Given the description of an element on the screen output the (x, y) to click on. 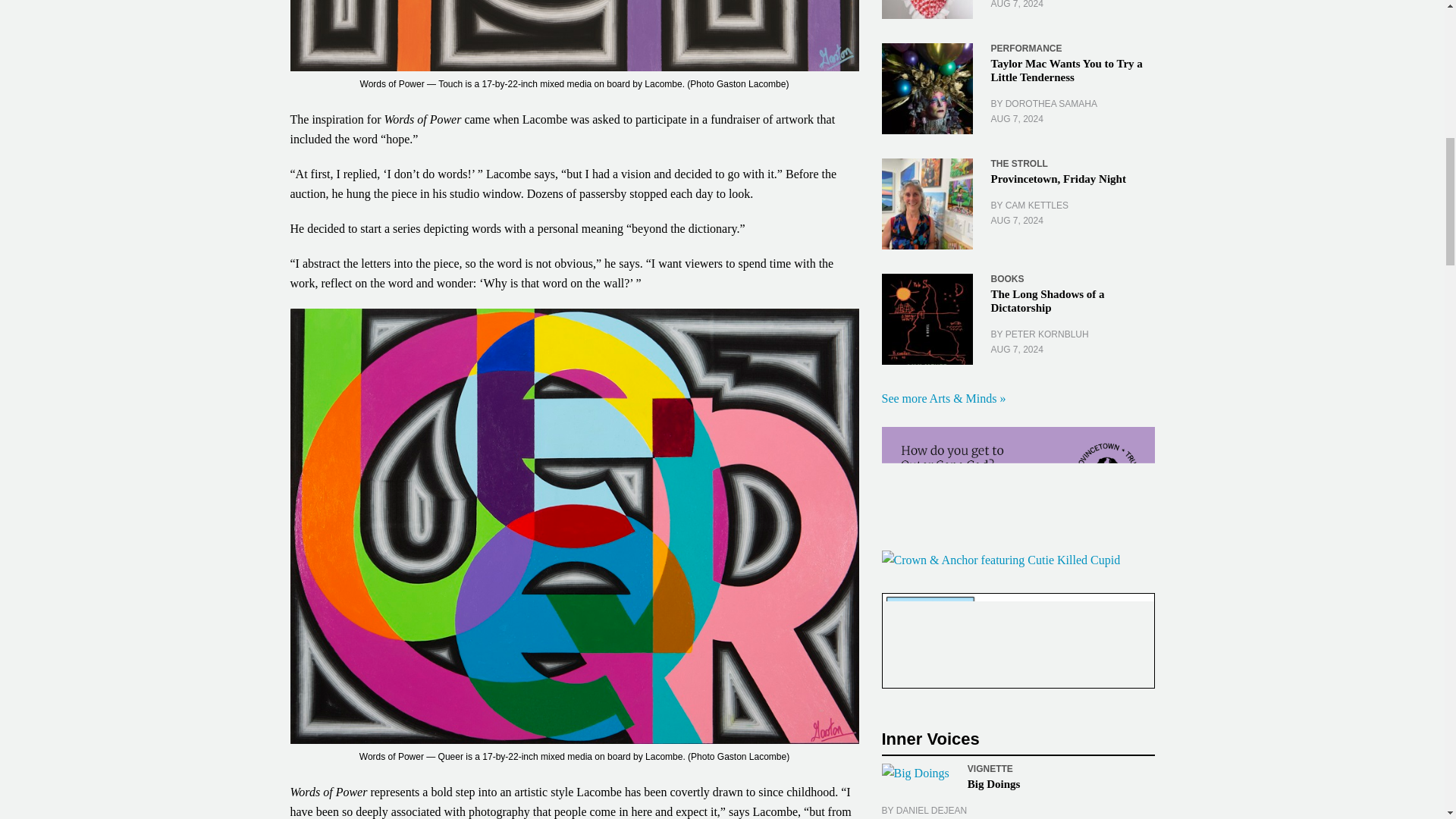
More from this category (1006, 278)
More from this category (990, 768)
More from this category (1018, 163)
More from this category (1025, 48)
